Given the description of an element on the screen output the (x, y) to click on. 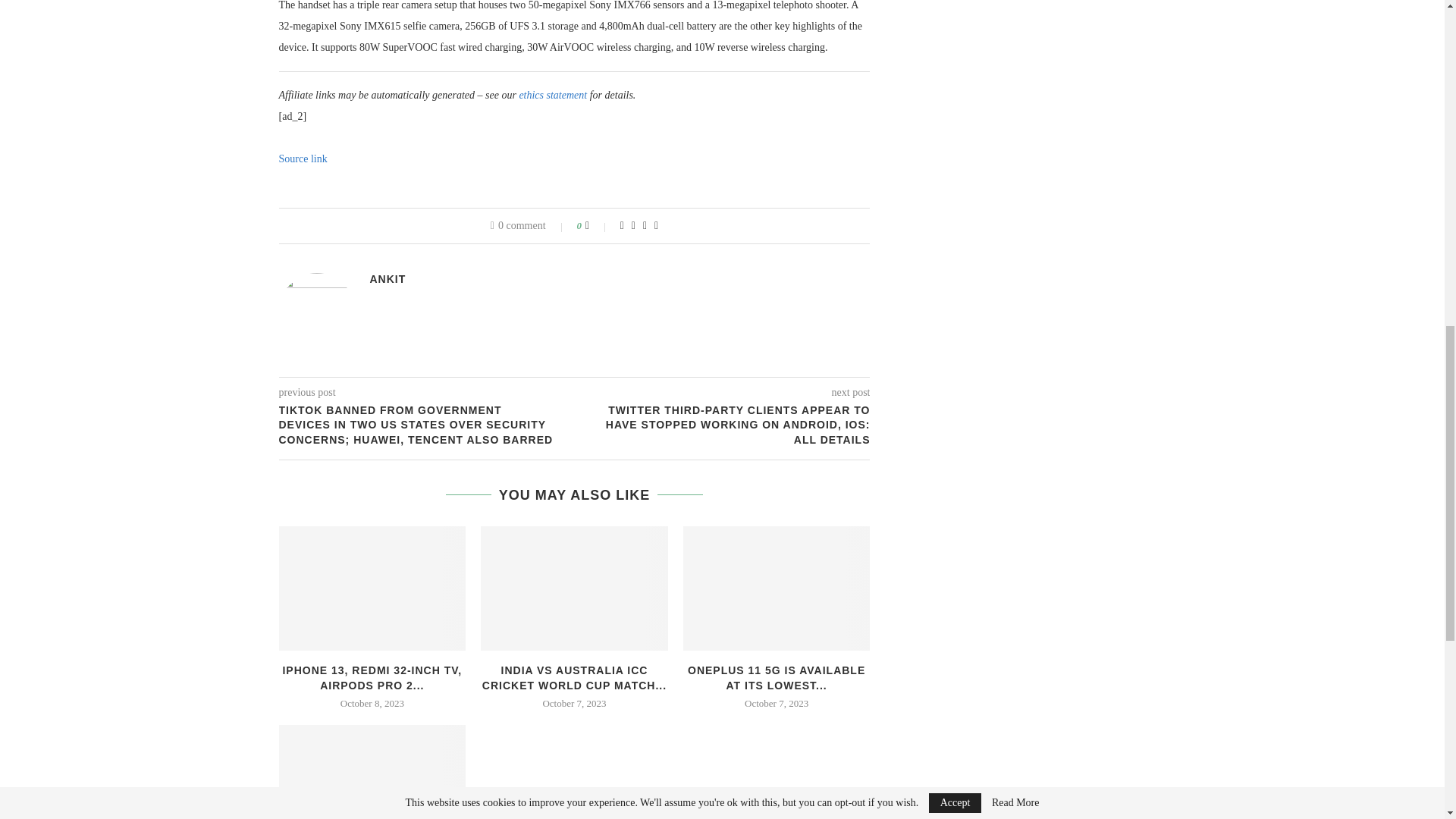
Like (597, 225)
Posts by Ankit (387, 278)
